Given the description of an element on the screen output the (x, y) to click on. 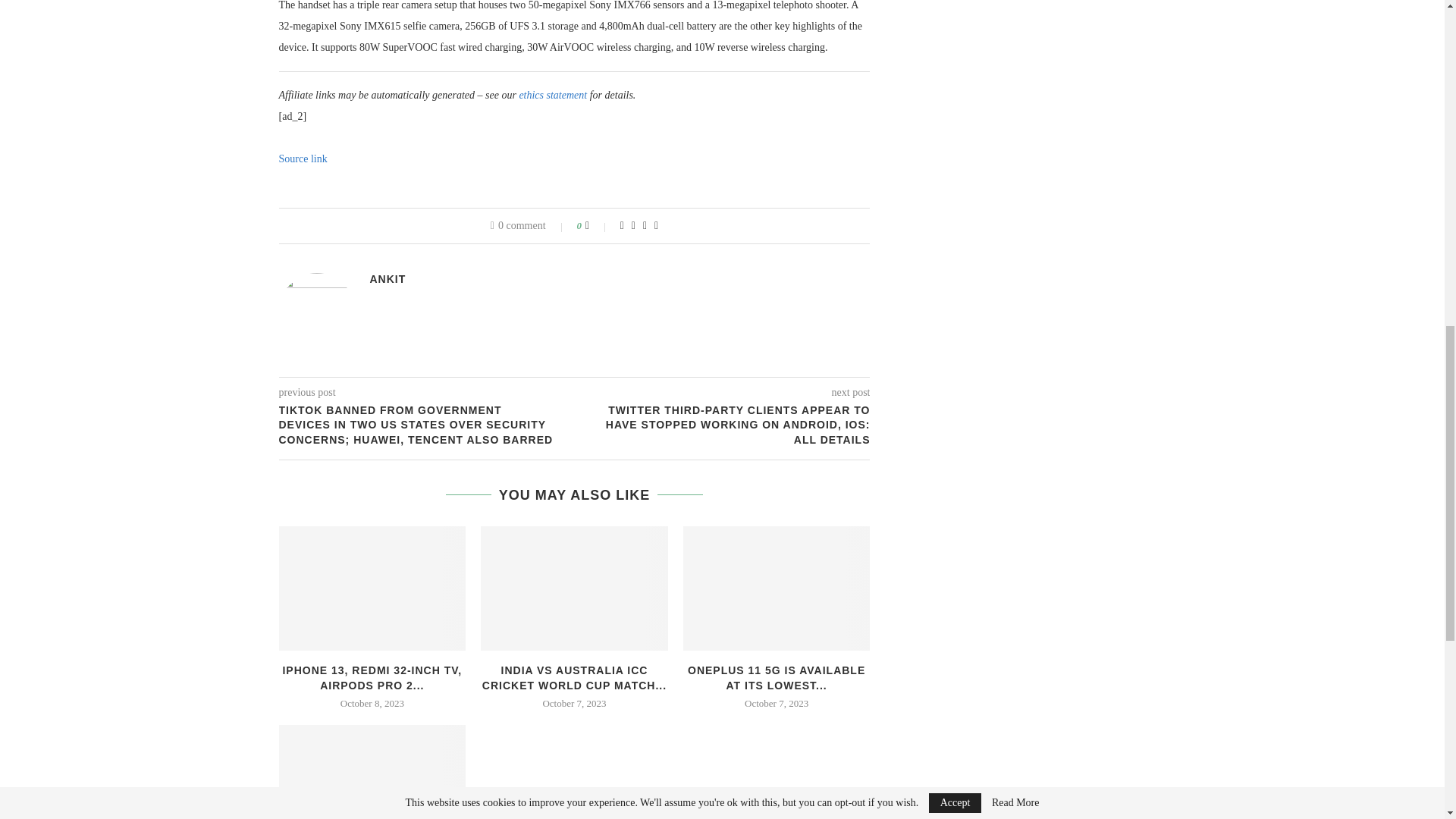
Like (597, 225)
Posts by Ankit (387, 278)
